Given the description of an element on the screen output the (x, y) to click on. 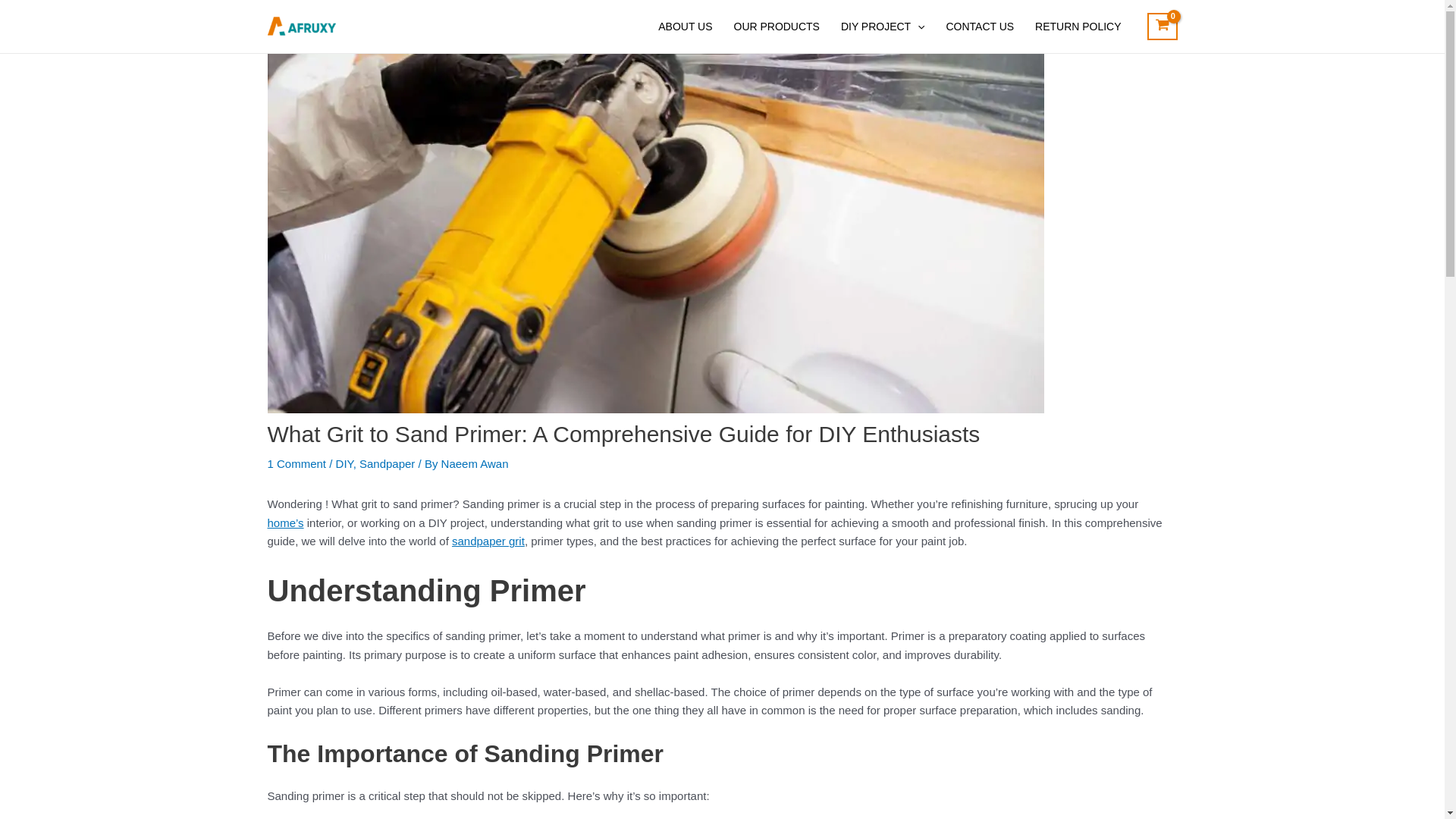
ABOUT US (684, 26)
CONTACT US (980, 26)
sandpaper grit (487, 540)
RETURN POLICY (1078, 26)
DIY PROJECT (882, 26)
View all posts by Naeem Awan (474, 463)
Sandpaper (386, 463)
1 Comment (296, 463)
OUR PRODUCTS (776, 26)
DIY (344, 463)
Naeem Awan (474, 463)
